Given the description of an element on the screen output the (x, y) to click on. 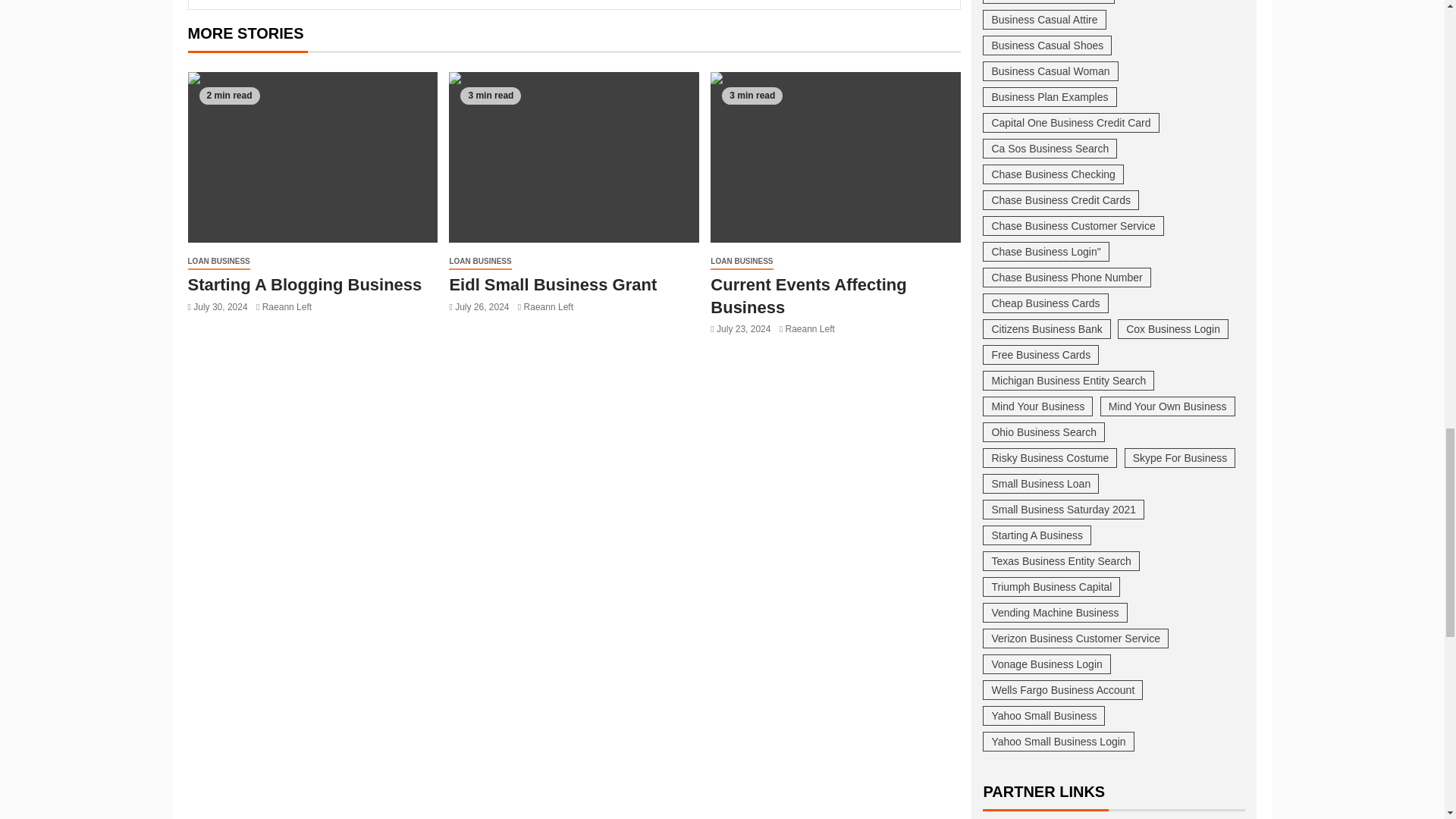
Government Relief For Small Business (301, 295)
Eidl Small Business Grant (835, 157)
LOAN BUSINESS (218, 261)
Raeann Left (293, 328)
Government Relief For Small Business (312, 157)
Starting A Blogging Business (573, 157)
